Given the description of an element on the screen output the (x, y) to click on. 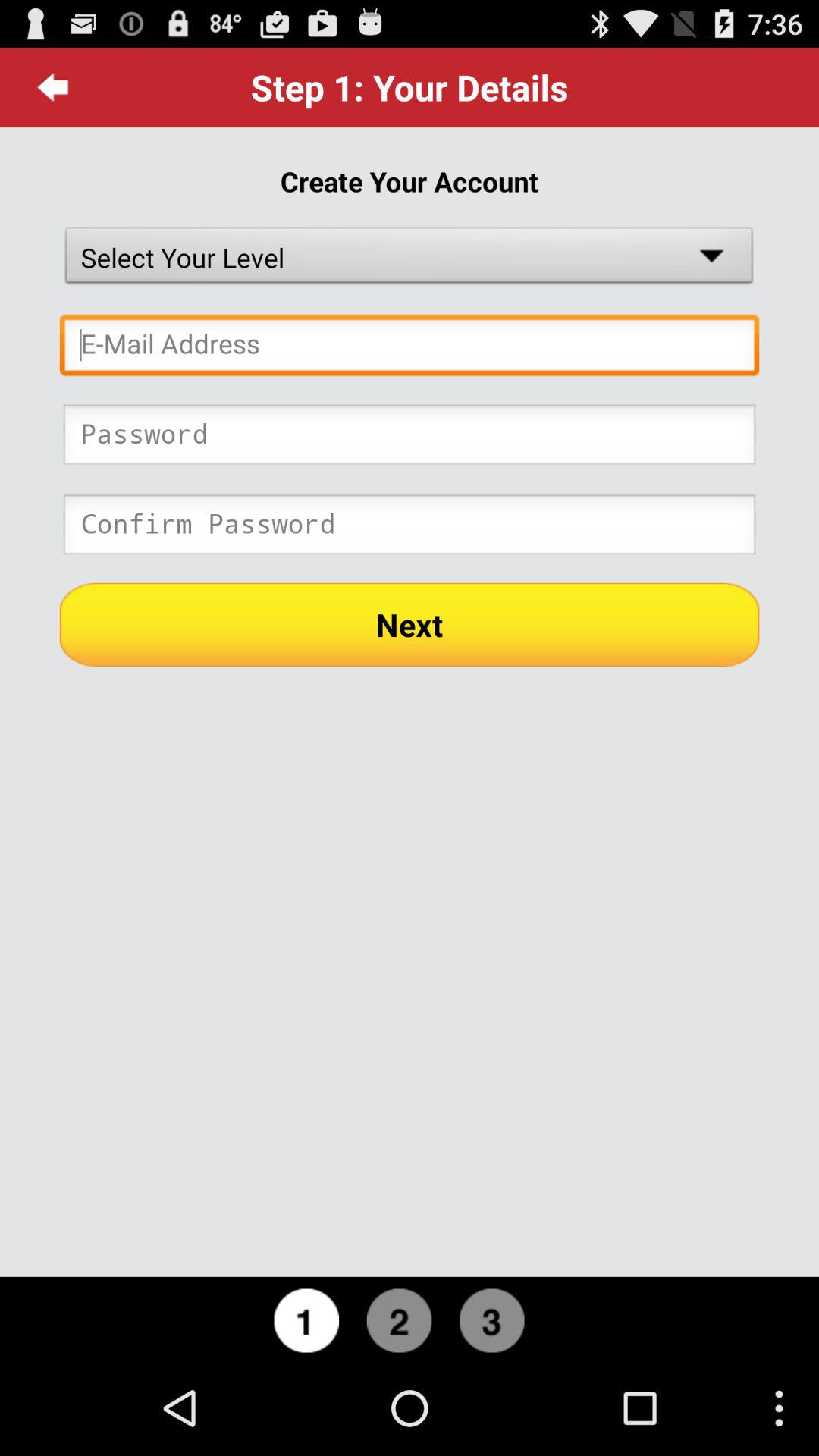
turn off the icon below select your level icon (409, 349)
